Given the description of an element on the screen output the (x, y) to click on. 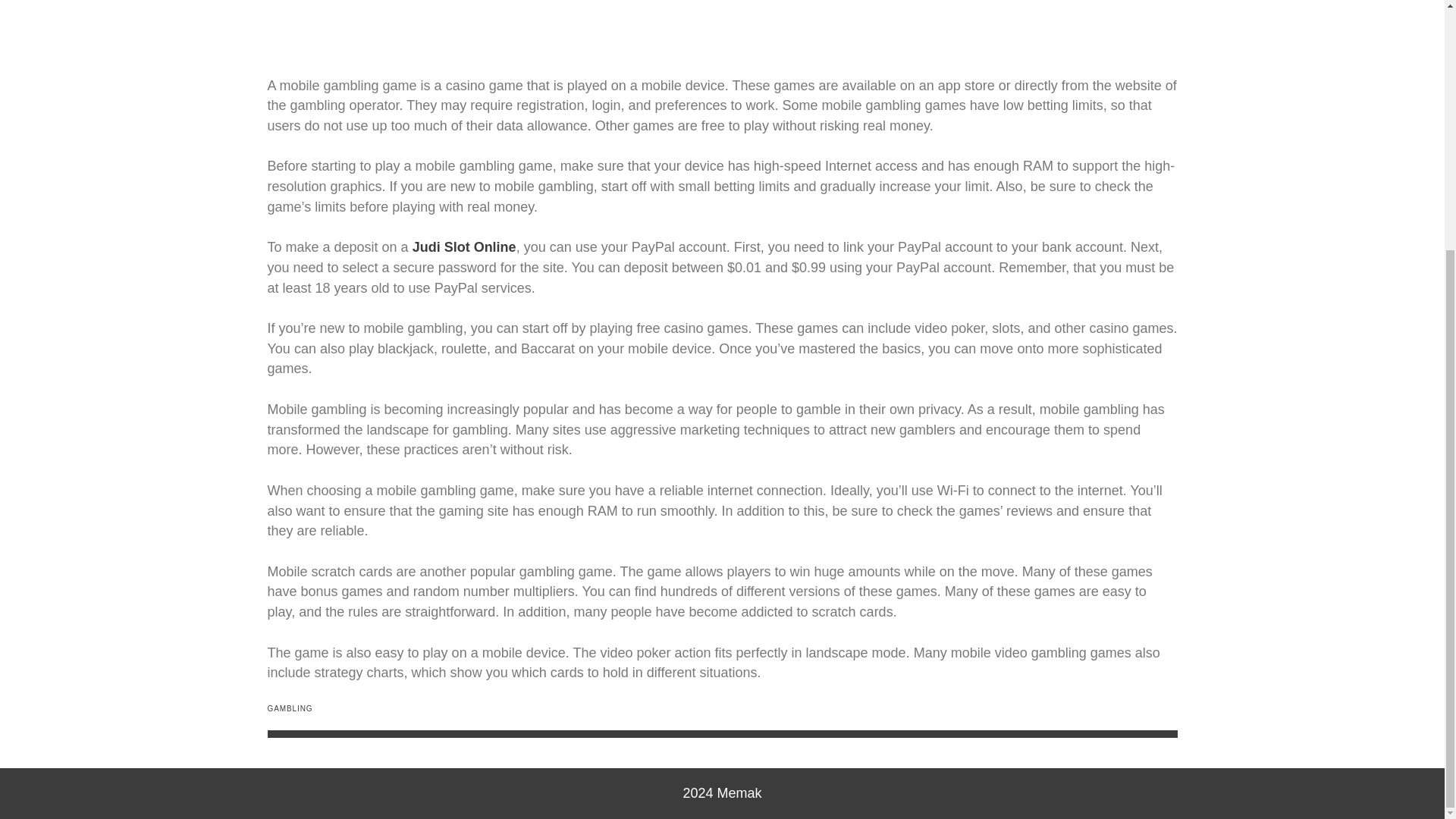
GAMBLING (289, 708)
Judi Slot Online (464, 246)
